Given the description of an element on the screen output the (x, y) to click on. 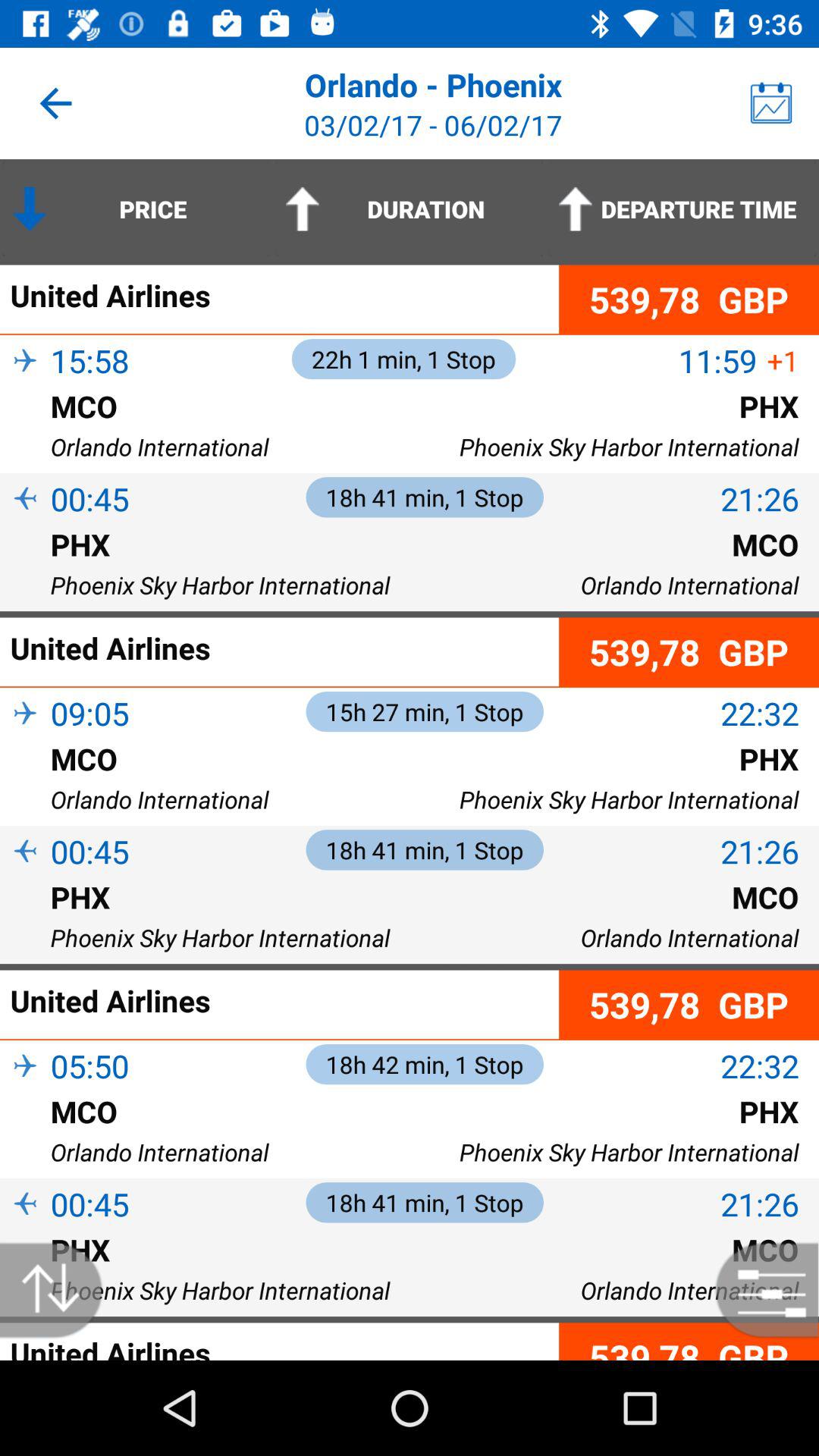
select item below the 00:45 item (25, 1229)
